Given the description of an element on the screen output the (x, y) to click on. 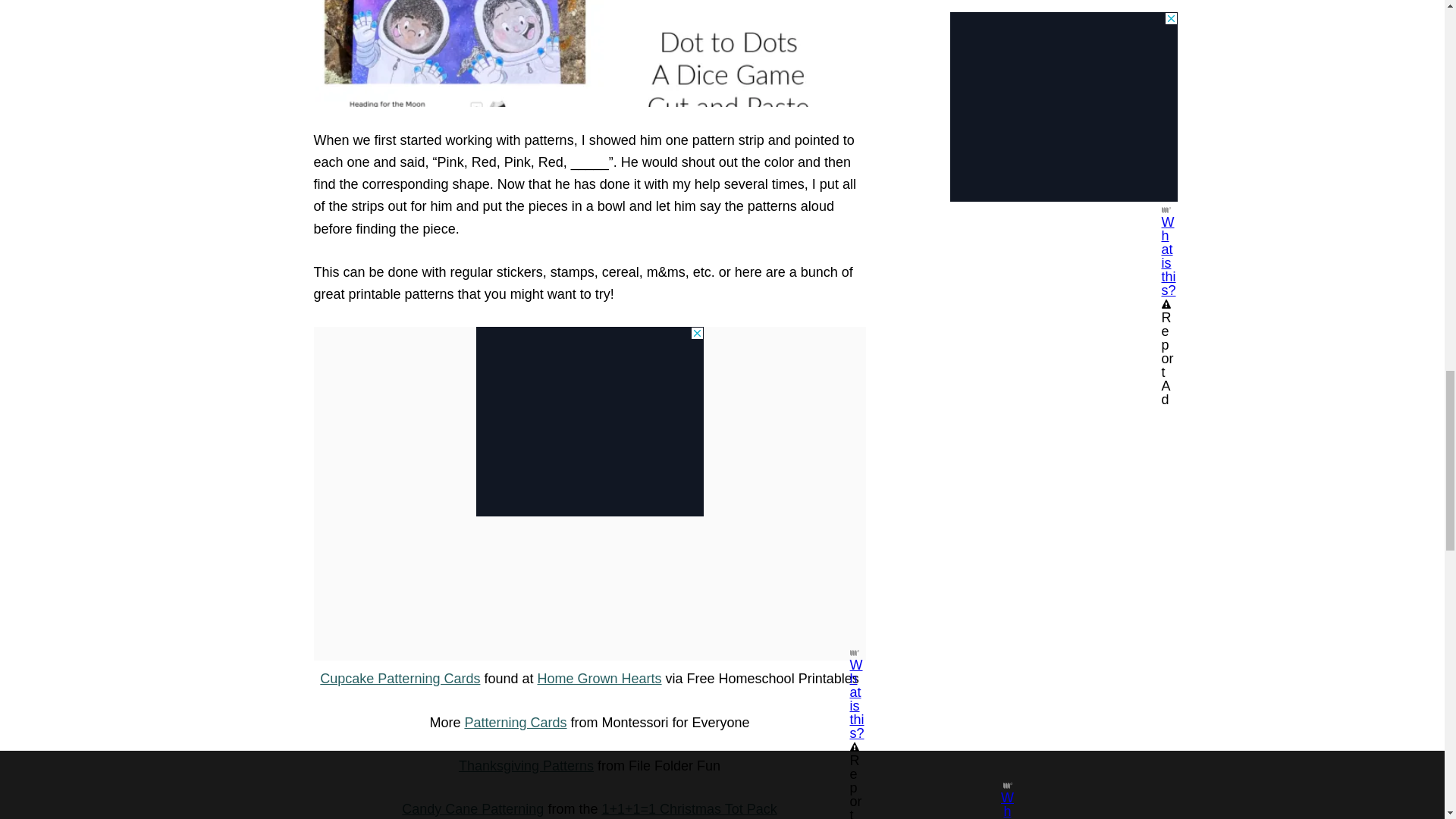
Candy Cane Patterning (472, 808)
Home Grown Hearts (599, 678)
3rd party ad content (589, 421)
Thanksgiving Patterns (526, 765)
Cupcake Patterning Cards (400, 678)
Patterning Cards (515, 721)
